Given the description of an element on the screen output the (x, y) to click on. 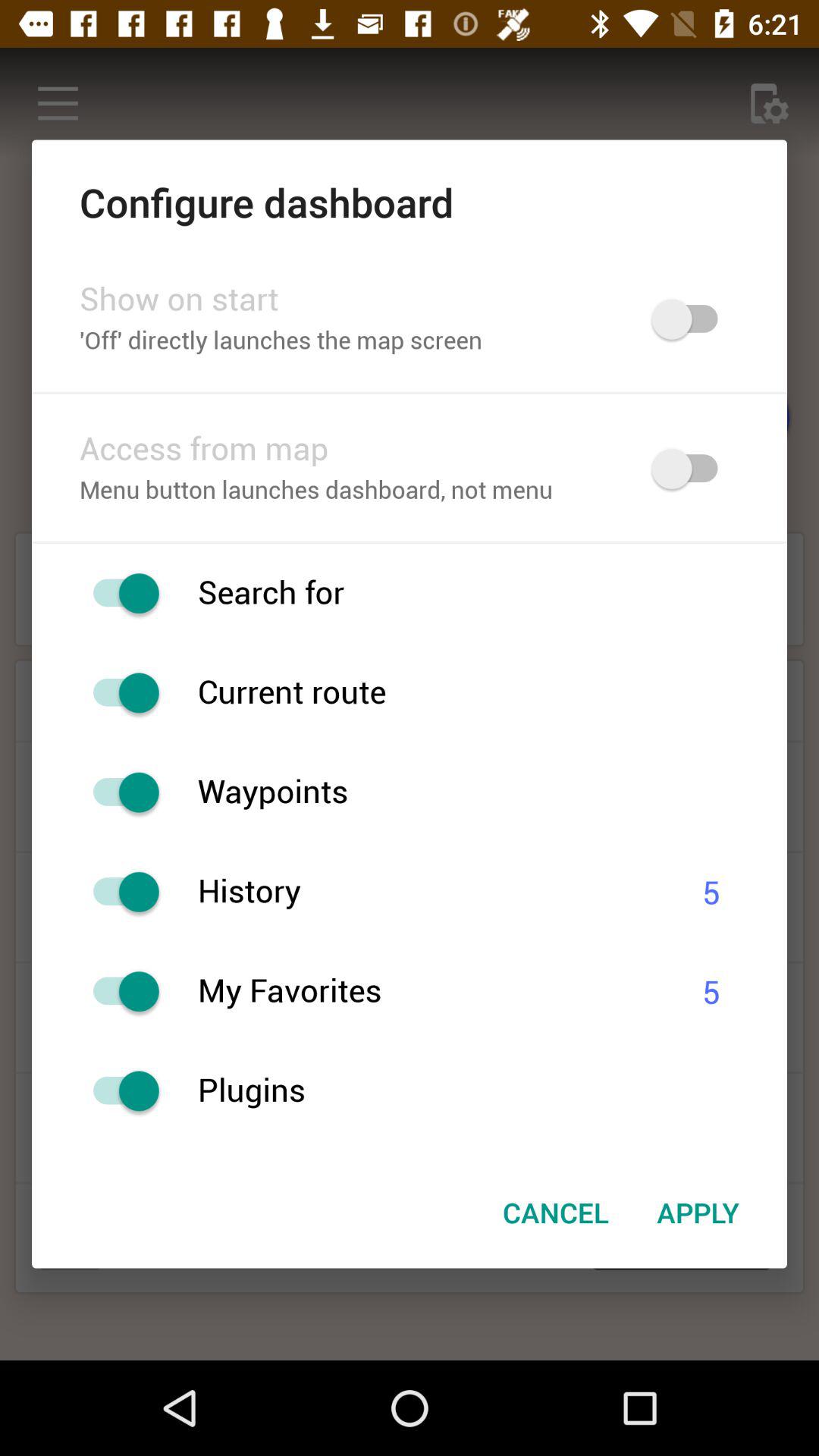
this key is to disable and activate the waypoint (118, 792)
